Given the description of an element on the screen output the (x, y) to click on. 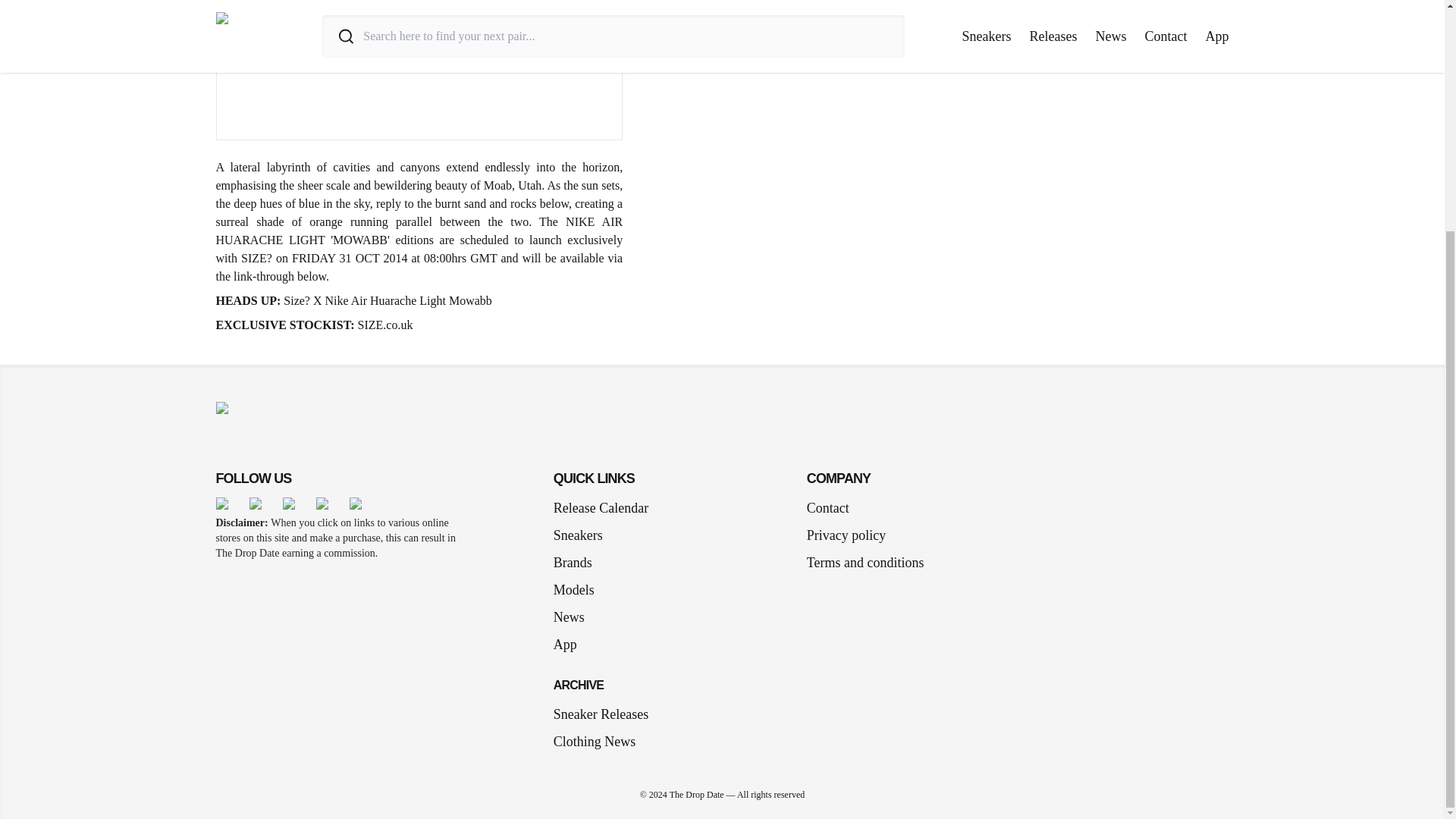
Clothing News (594, 741)
Contact (827, 507)
Brands (578, 562)
Models (580, 589)
Privacy policy (845, 535)
Sneaker Releases (600, 713)
App (571, 644)
News (574, 617)
Terms and conditions (865, 562)
SIZE.co.uk (385, 324)
